Given the description of an element on the screen output the (x, y) to click on. 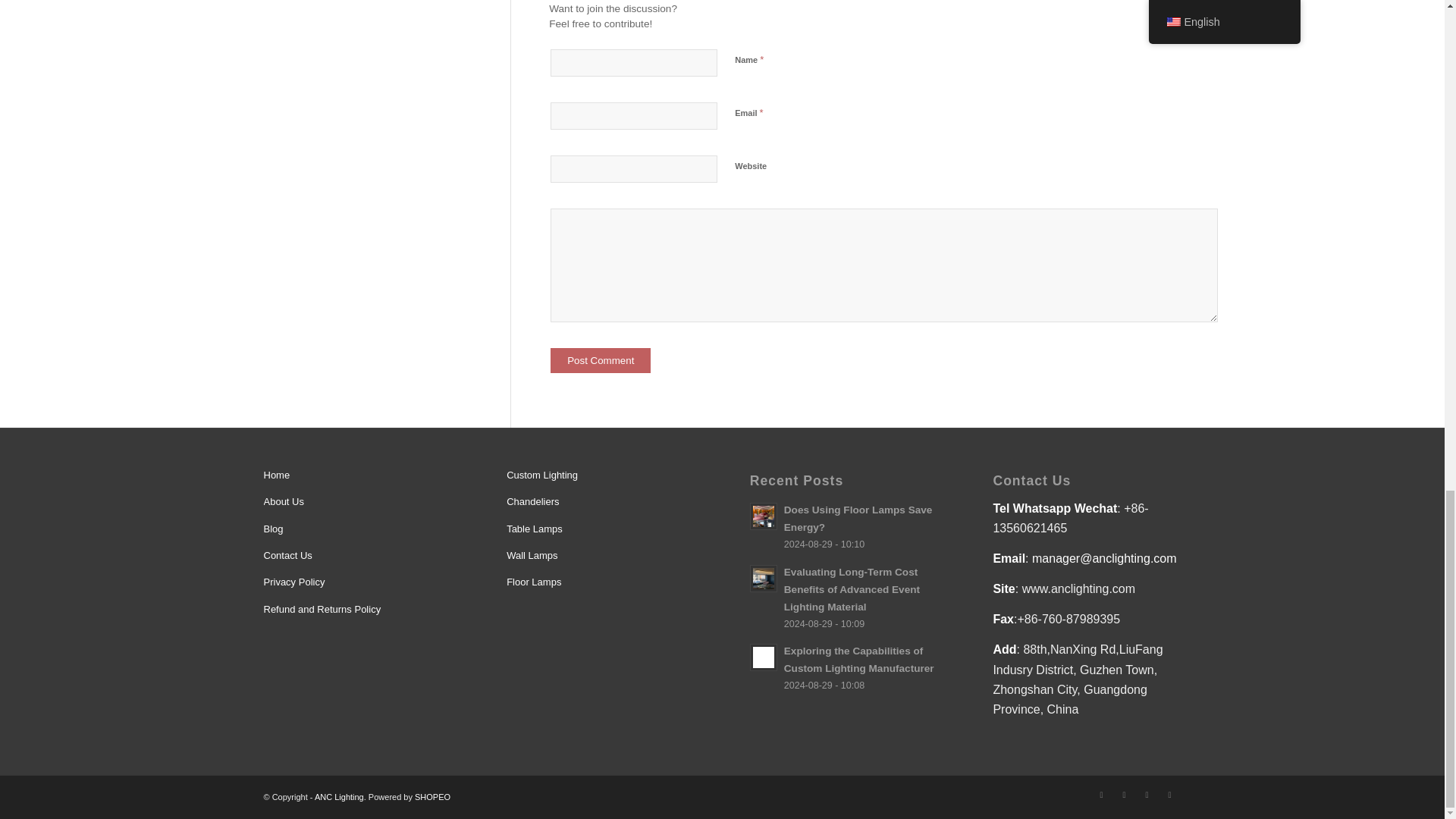
Post Comment (600, 360)
Facebook (1124, 793)
Twitter (1101, 793)
Instagram (1146, 793)
Exploring the Capabilities of Custom Lighting Manufacturer (843, 667)
Does Using Floor Lamps Save Energy? (843, 526)
